Given the description of an element on the screen output the (x, y) to click on. 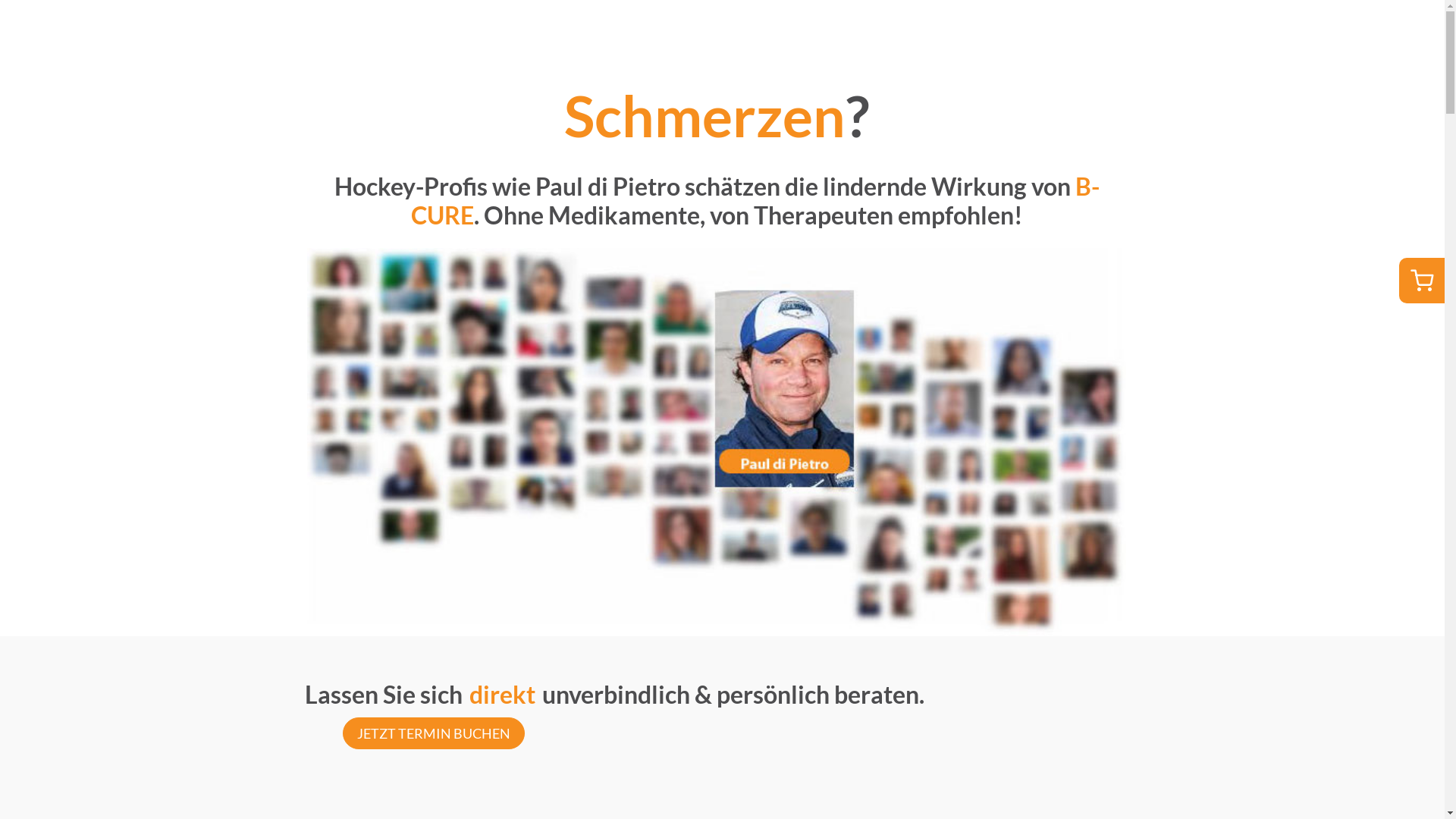
JETZT TERMIN BUCHEN Element type: text (433, 733)
JETZT TERMIN BUCHEN Element type: text (433, 731)
